Given the description of an element on the screen output the (x, y) to click on. 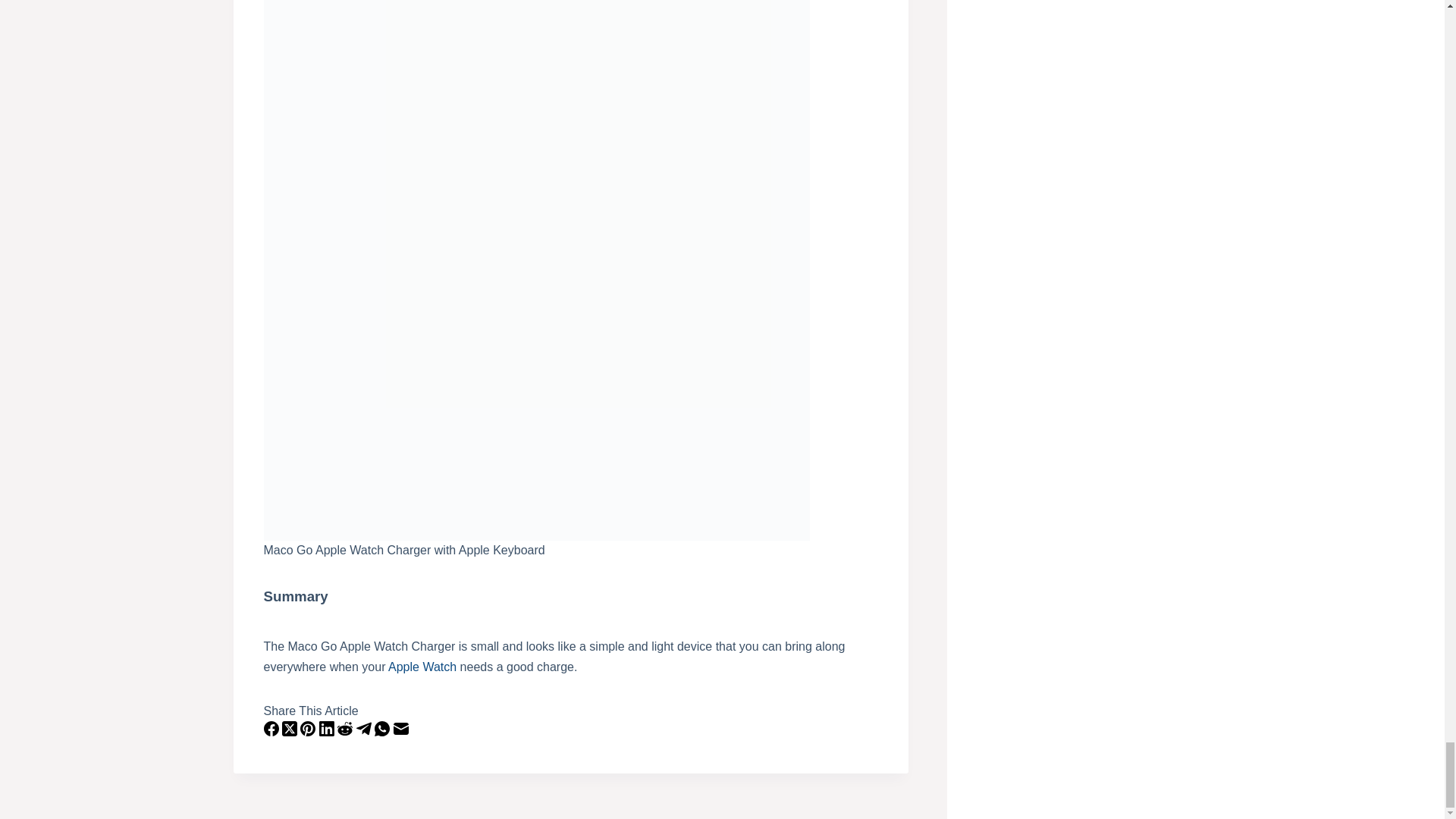
Apple Watch (422, 666)
